Given the description of an element on the screen output the (x, y) to click on. 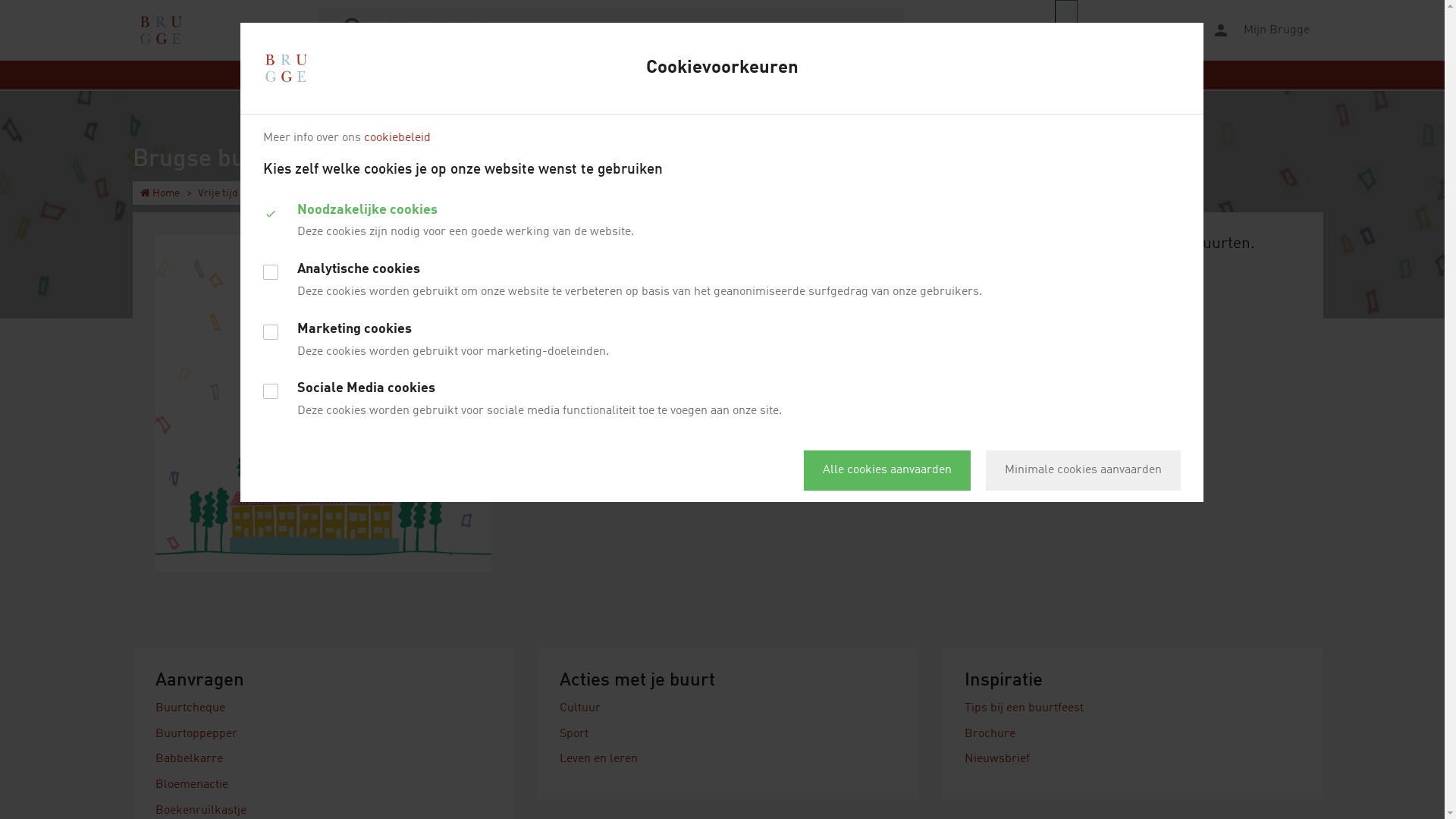
Bekijk de openingsuren Element type: text (1027, 304)
Lees voor Element type: text (1122, 30)
WELZIJN & ZORG Element type: text (919, 74)
Brochure Element type: text (989, 734)
050 44 82 22 Element type: text (996, 286)
Cultuur Element type: text (579, 708)
Home Element type: text (159, 193)
cookiebeleid Element type: text (397, 137)
webReader menu Element type: hover (1065, 30)
Alle cookies aanvaarden Element type: text (886, 470)
Nieuwsbrief Element type: text (996, 759)
Tips bij een buurtfeest Element type: text (1023, 708)
brugsebuurten@brugge.be Element type: text (1109, 286)
Bloemenactie Element type: text (191, 784)
Ga naar de startpagina Element type: hover (160, 30)
Sport Element type: text (573, 734)
Buurtoppepper Element type: text (196, 734)
Buurtcheque Element type: text (190, 708)
VRIJE TIJD Element type: text (697, 74)
Bekijk de brochure Element type: text (1029, 385)
WERK & ONDERNEMEN Element type: text (800, 74)
Leven en leren Element type: text (598, 759)
Volg ons op facebook Element type: hover (1038, 330)
Boekenruilkastje Element type: text (200, 810)
Vrije tijd Element type: text (217, 193)
WONEN & OMGEVING Element type: text (598, 74)
LEVEN & MOBILITEIT Element type: text (475, 74)
Minimale cookies aanvaarden Element type: text (1082, 470)
BESTUUR Element type: text (1006, 74)
Babbelkarre Element type: text (188, 759)
